Given the description of an element on the screen output the (x, y) to click on. 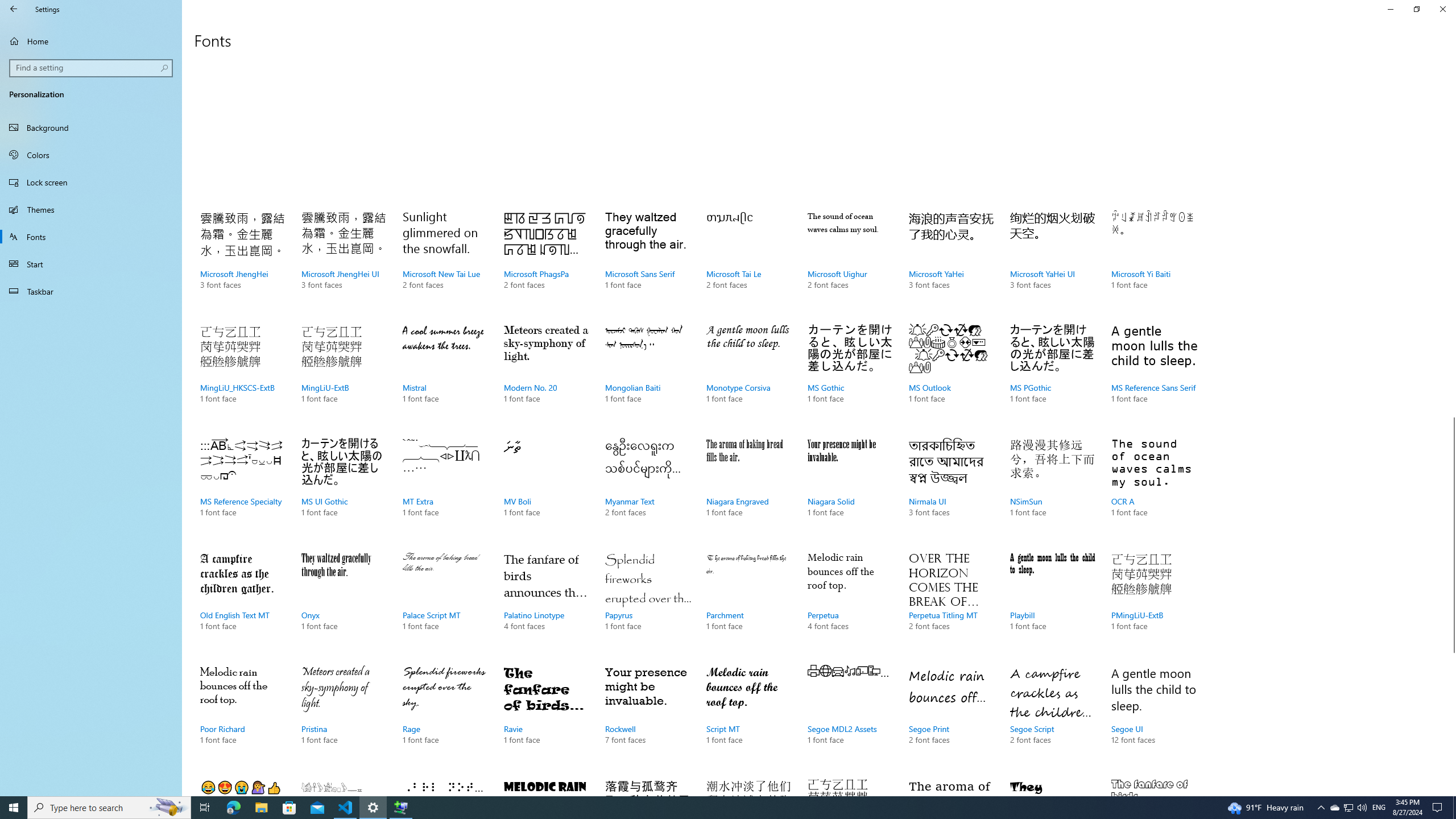
Taskbar (91, 290)
Snap ITC, 1 font face (1052, 784)
Segoe MDL2 Assets, 1 font face (850, 716)
Modern No. 20, 1 font face (545, 375)
MingLiU-ExtB, 1 font face (343, 375)
Segoe UI Emoji, 1 font face (243, 784)
Colors (91, 154)
Palatino Linotype, 4 font faces (545, 603)
